Given the description of an element on the screen output the (x, y) to click on. 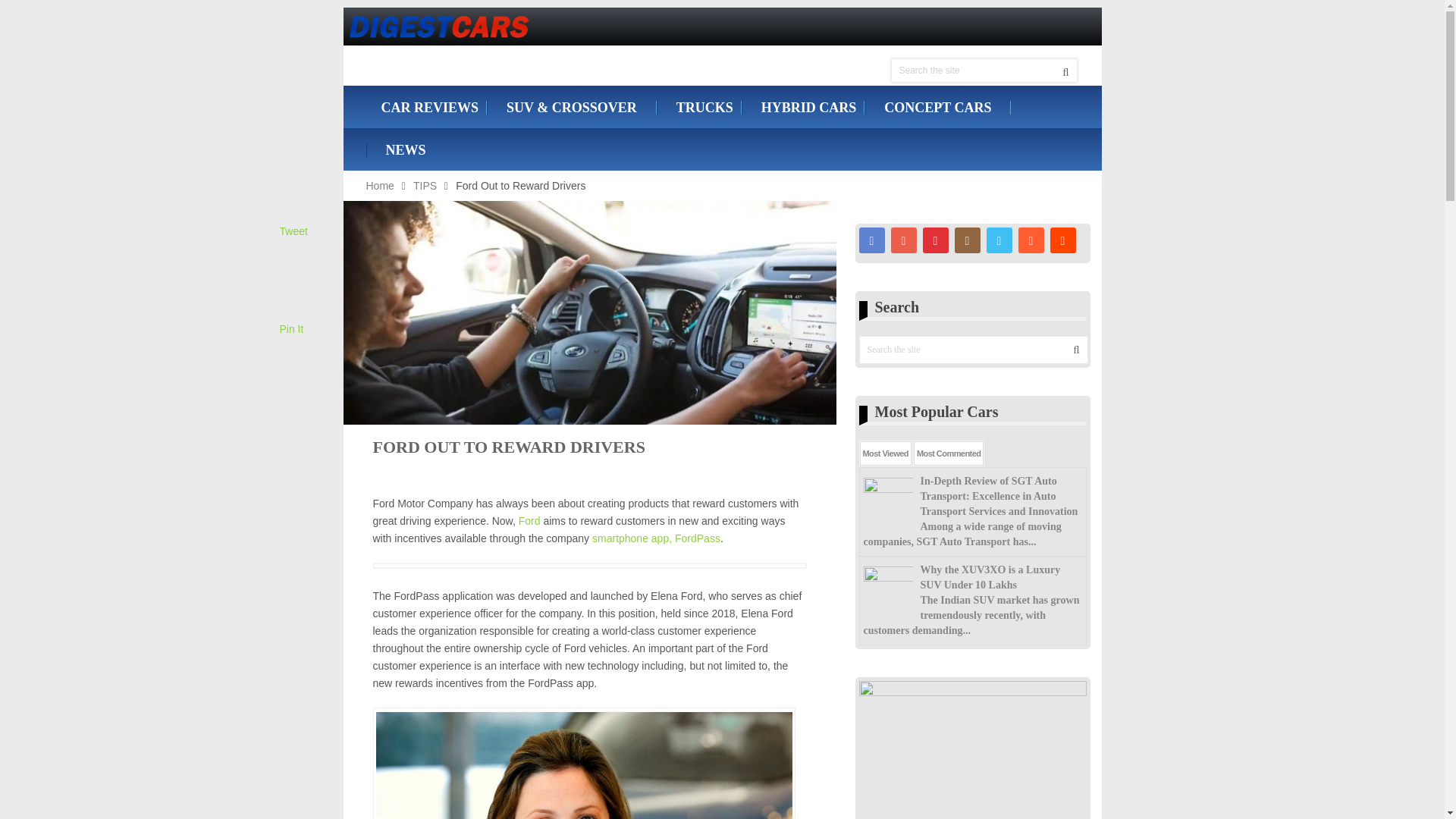
smartphone app, FordPass (656, 538)
TIPS (424, 185)
HYBRID CARS (802, 107)
Pinterest (934, 240)
Pin It (290, 328)
CAR REVIEWS (425, 107)
TRUCKS (698, 107)
Facebook (871, 240)
Tweet (293, 231)
Ford (529, 521)
